Given the description of an element on the screen output the (x, y) to click on. 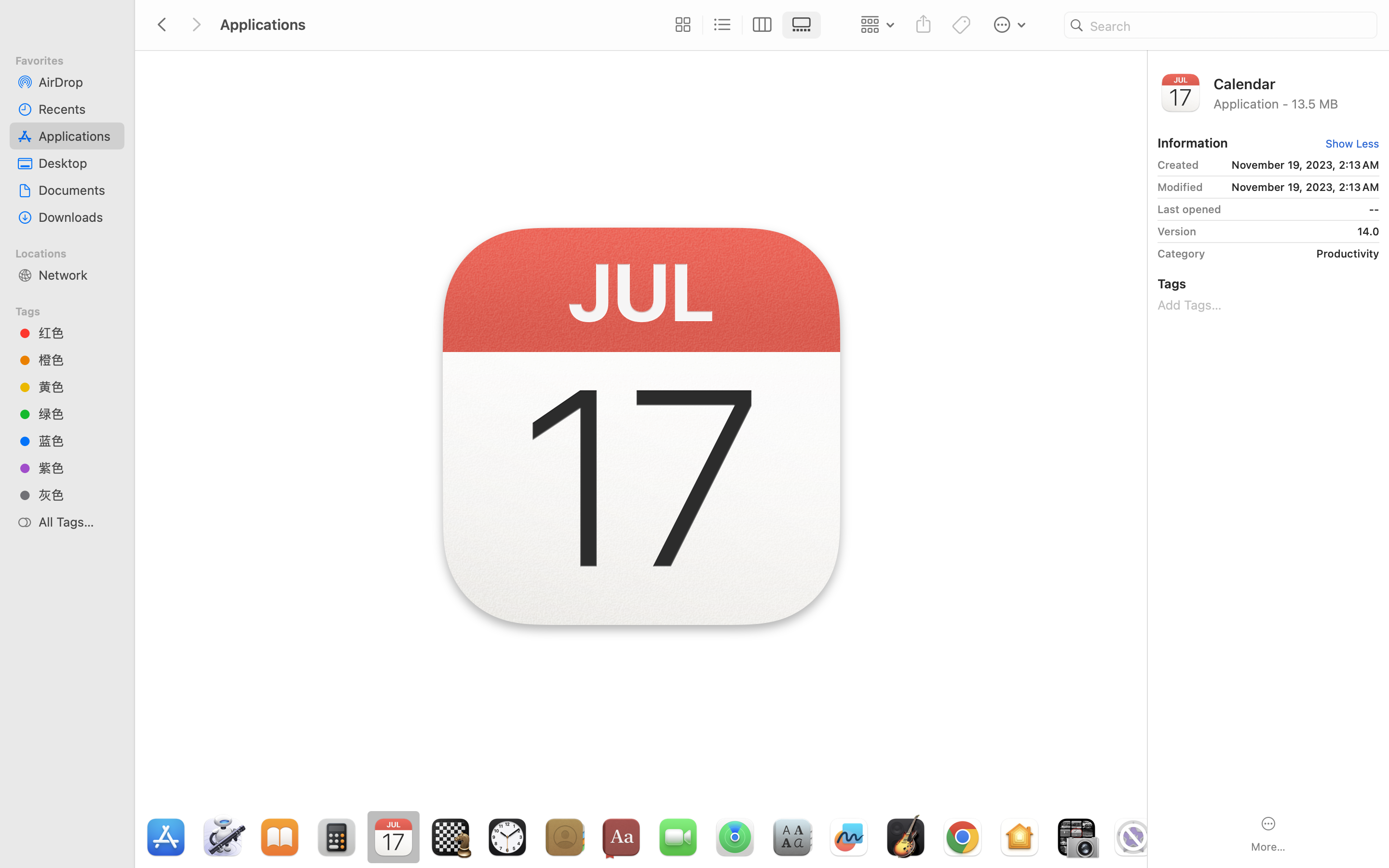
Locations Element type: AXStaticText (72, 252)
Modified Element type: AXStaticText (1179, 186)
Documents Element type: AXStaticText (77, 189)
Favorites Element type: AXStaticText (72, 59)
Calendar Element type: AXStaticText (1296, 82)
